Given the description of an element on the screen output the (x, y) to click on. 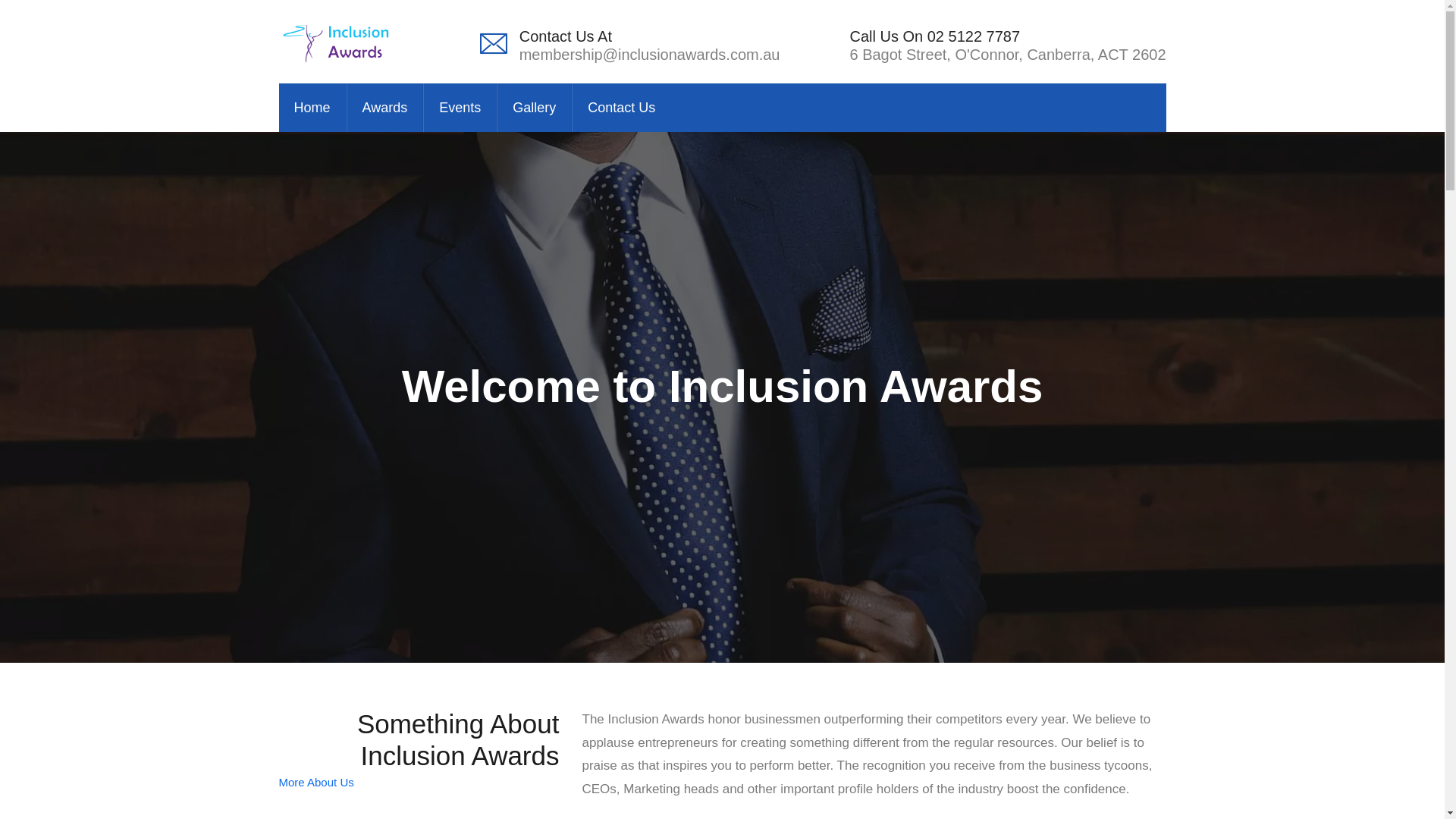
Awards Element type: text (384, 107)
Events Element type: text (459, 107)
Home Element type: text (312, 107)
More About Us Element type: text (316, 781)
Inclusion Awards Element type: hover (337, 41)
Gallery Element type: text (533, 107)
Contact Us Element type: text (620, 107)
